Given the description of an element on the screen output the (x, y) to click on. 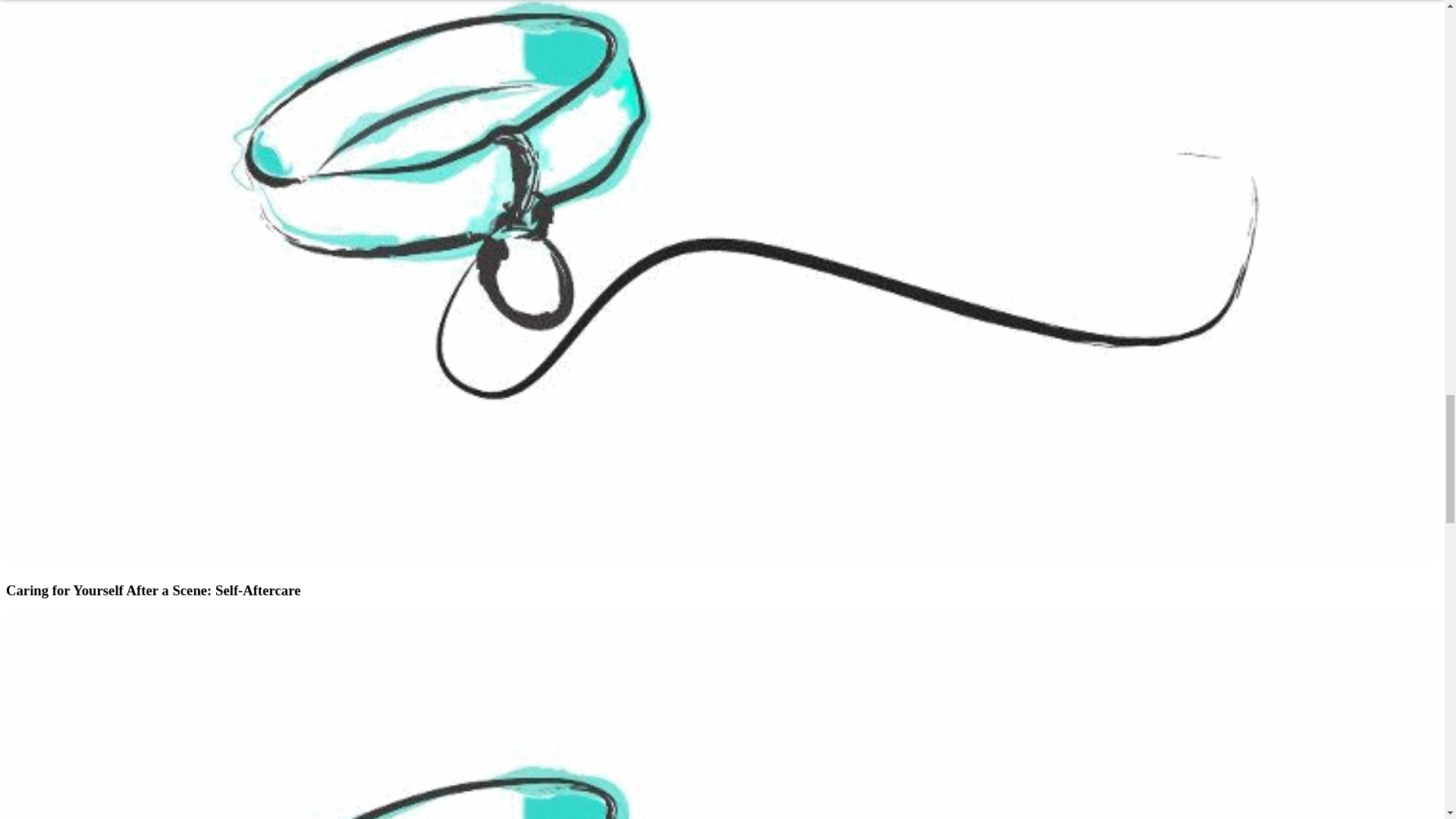
Caring for Yourself After a Scene: Self-Aftercare (153, 590)
